Given the description of an element on the screen output the (x, y) to click on. 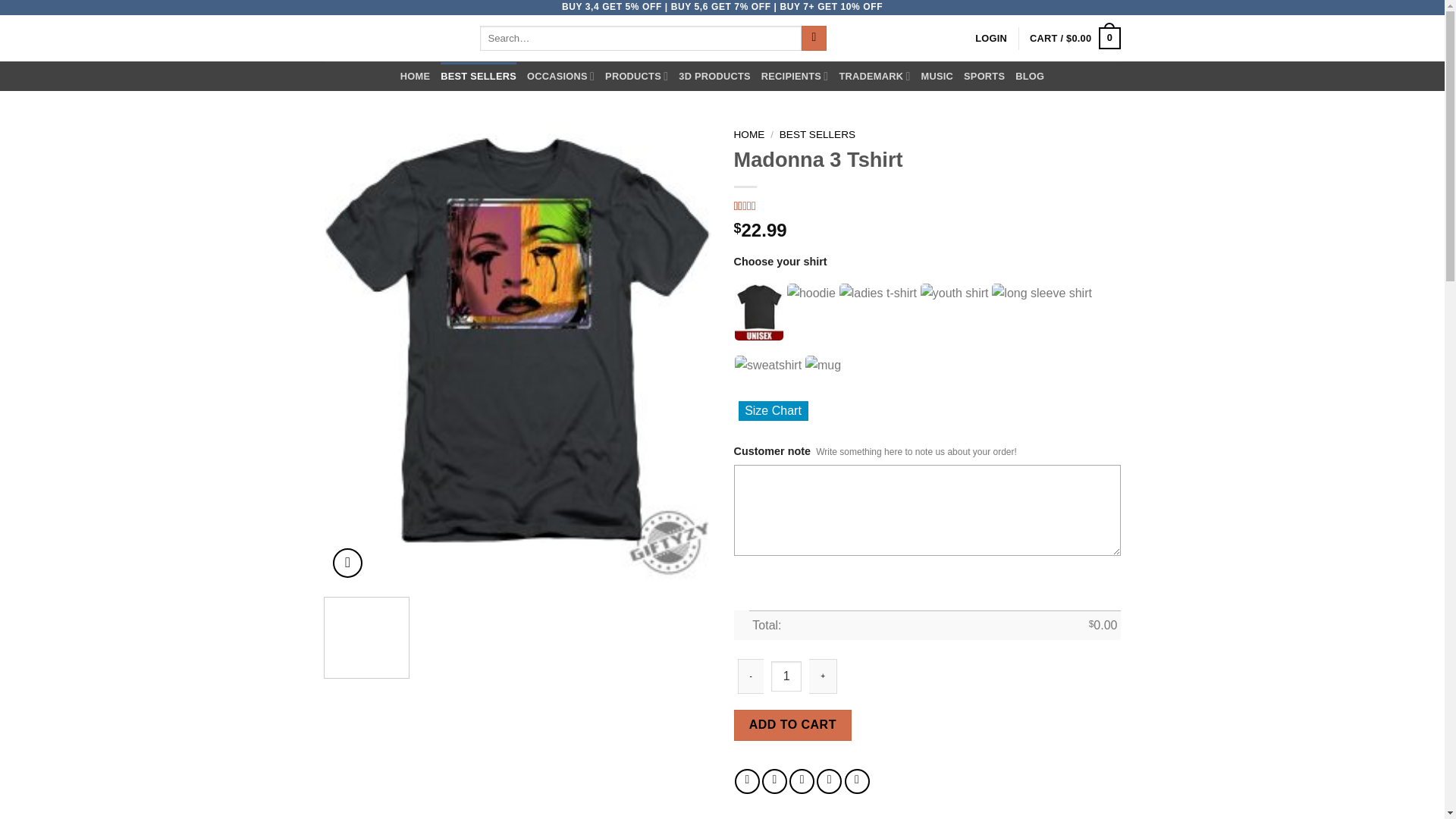
3D PRODUCTS (714, 76)
RECIPIENTS (794, 75)
PRODUCTS (636, 75)
OCCASIONS (560, 75)
TRADEMARK (874, 75)
1 (786, 675)
Giftyzy (390, 37)
Zoom (347, 562)
BEST SELLERS (478, 76)
HOME (414, 76)
